Given the description of an element on the screen output the (x, y) to click on. 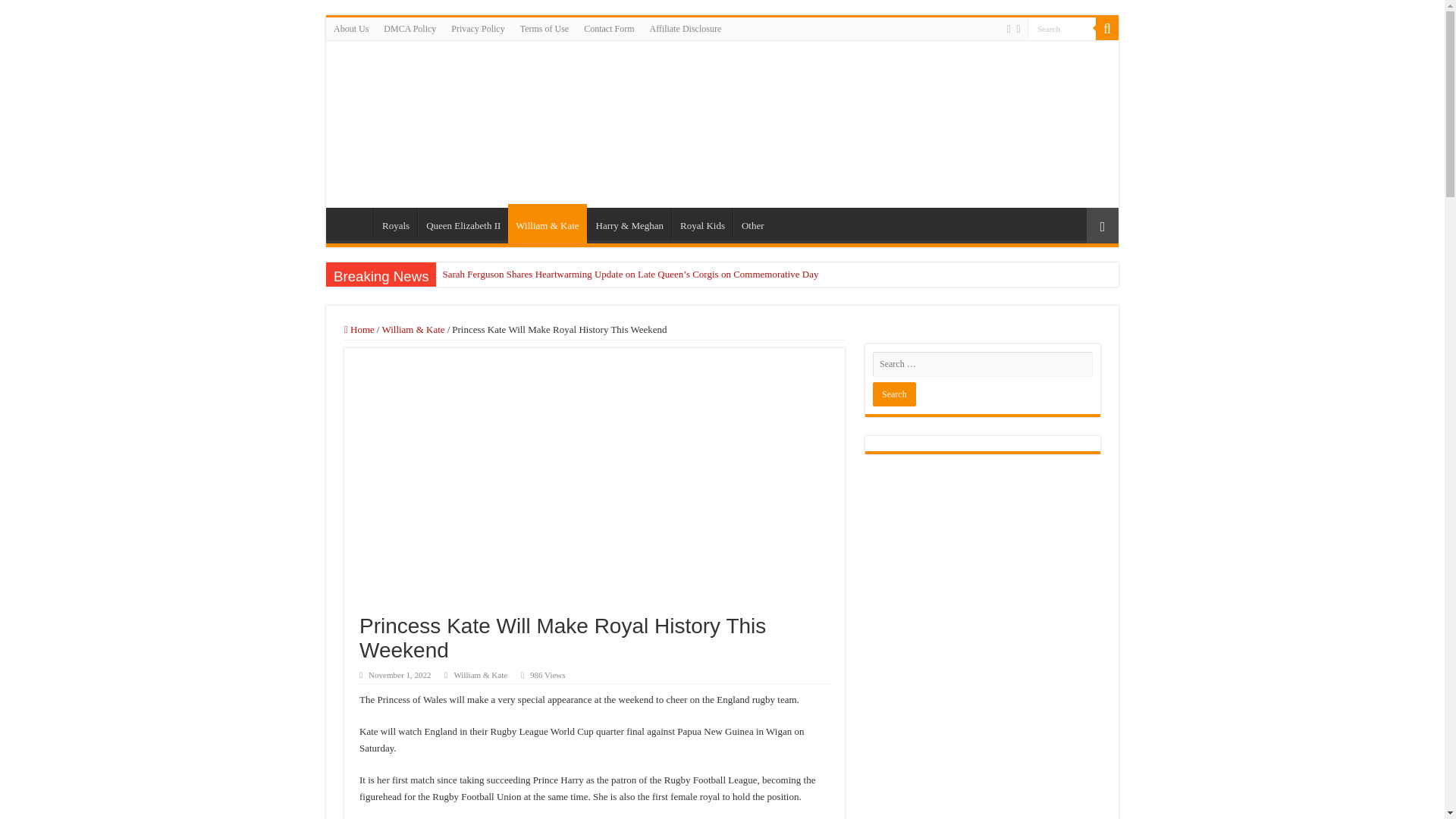
Contact Form (609, 28)
Privacy Policy (478, 28)
Royals (395, 223)
Royal Kids (701, 223)
Search (1061, 28)
Search (893, 394)
Queen Elizabeth II (462, 223)
Other (752, 223)
About Us (350, 28)
Search (1061, 28)
